Given the description of an element on the screen output the (x, y) to click on. 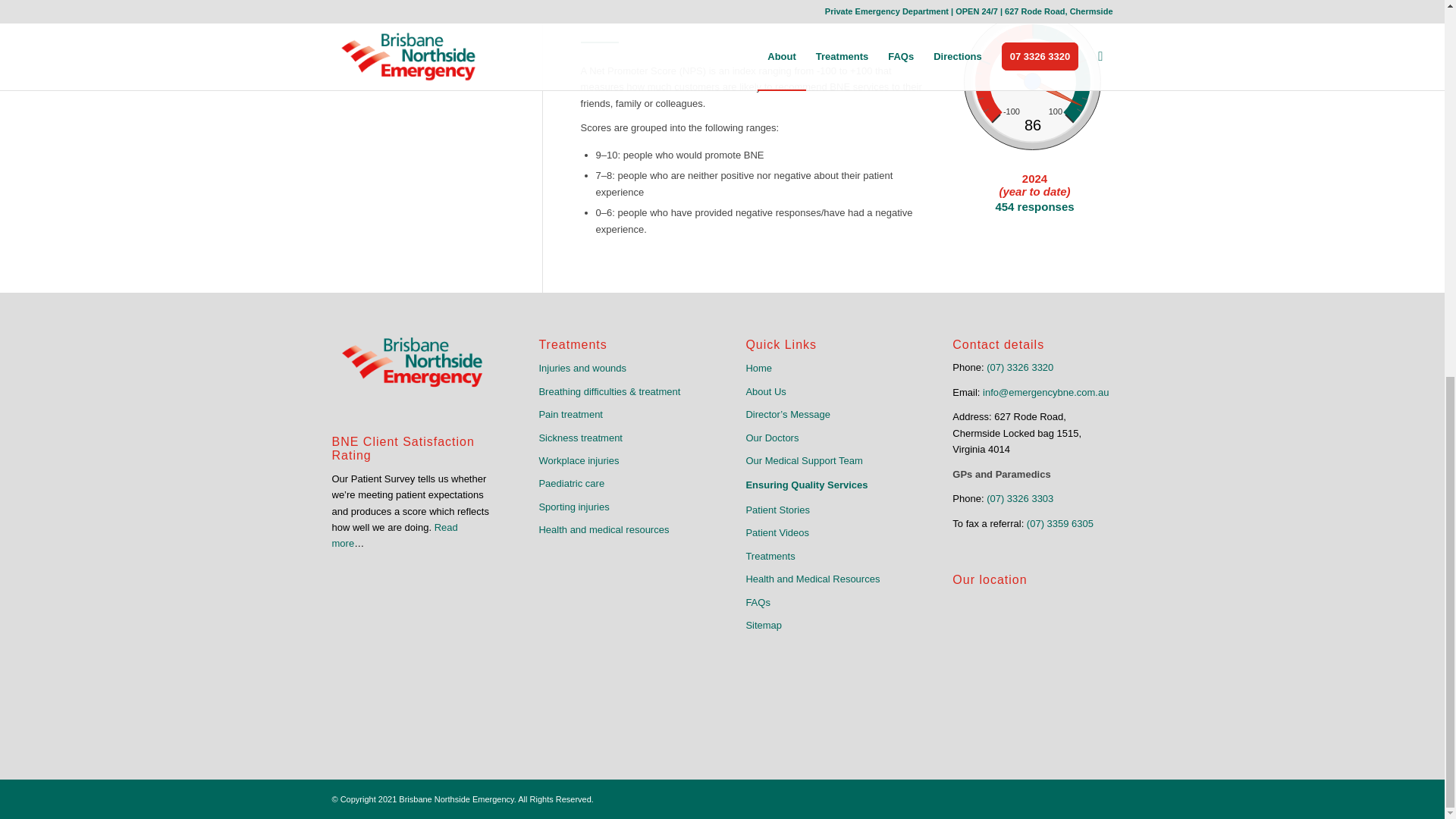
Sickness treatment (618, 437)
Injuries and wounds (618, 368)
Read more (394, 534)
Pain treatment (618, 414)
